Given the description of an element on the screen output the (x, y) to click on. 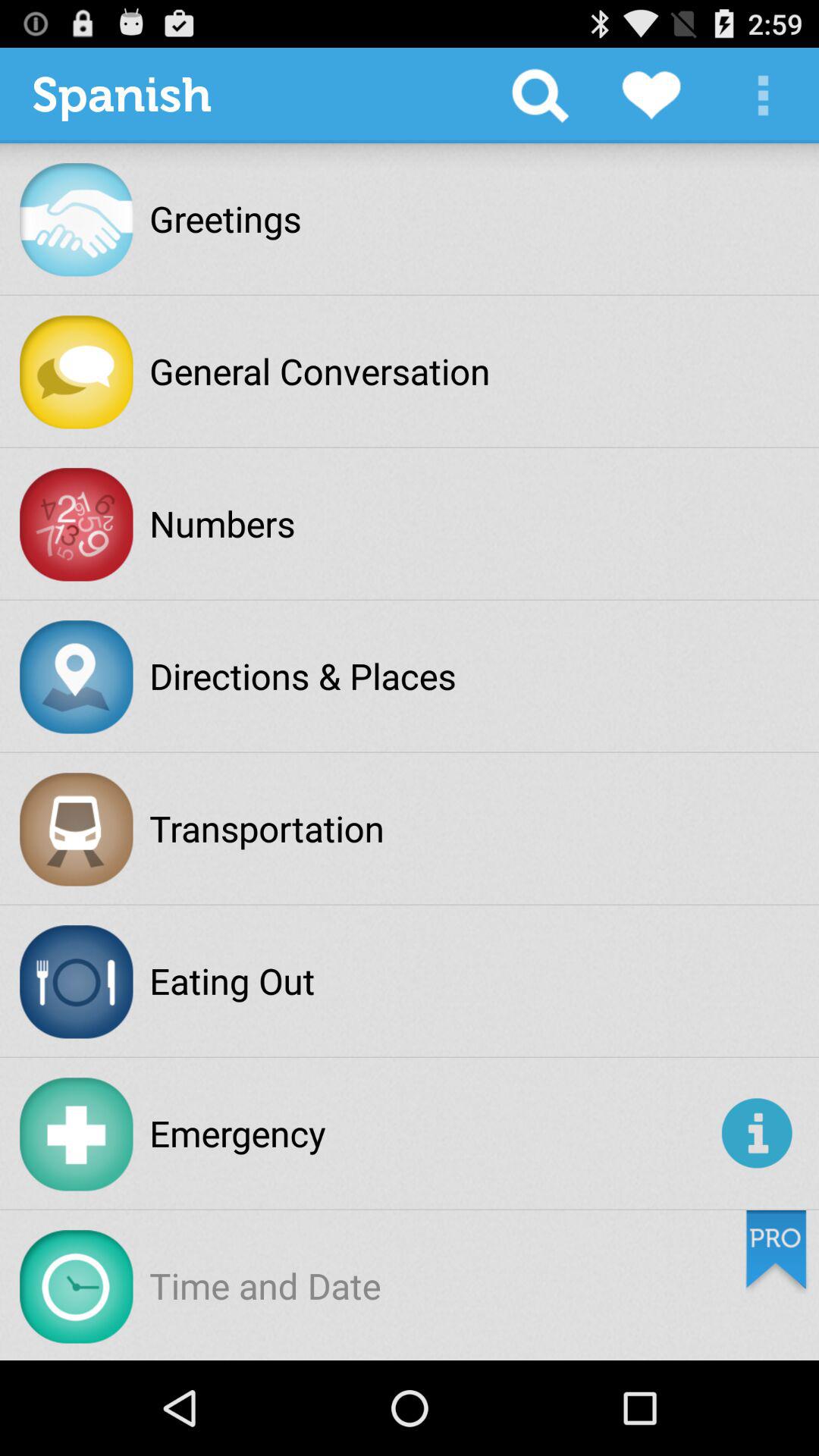
flip until numbers icon (222, 523)
